Given the description of an element on the screen output the (x, y) to click on. 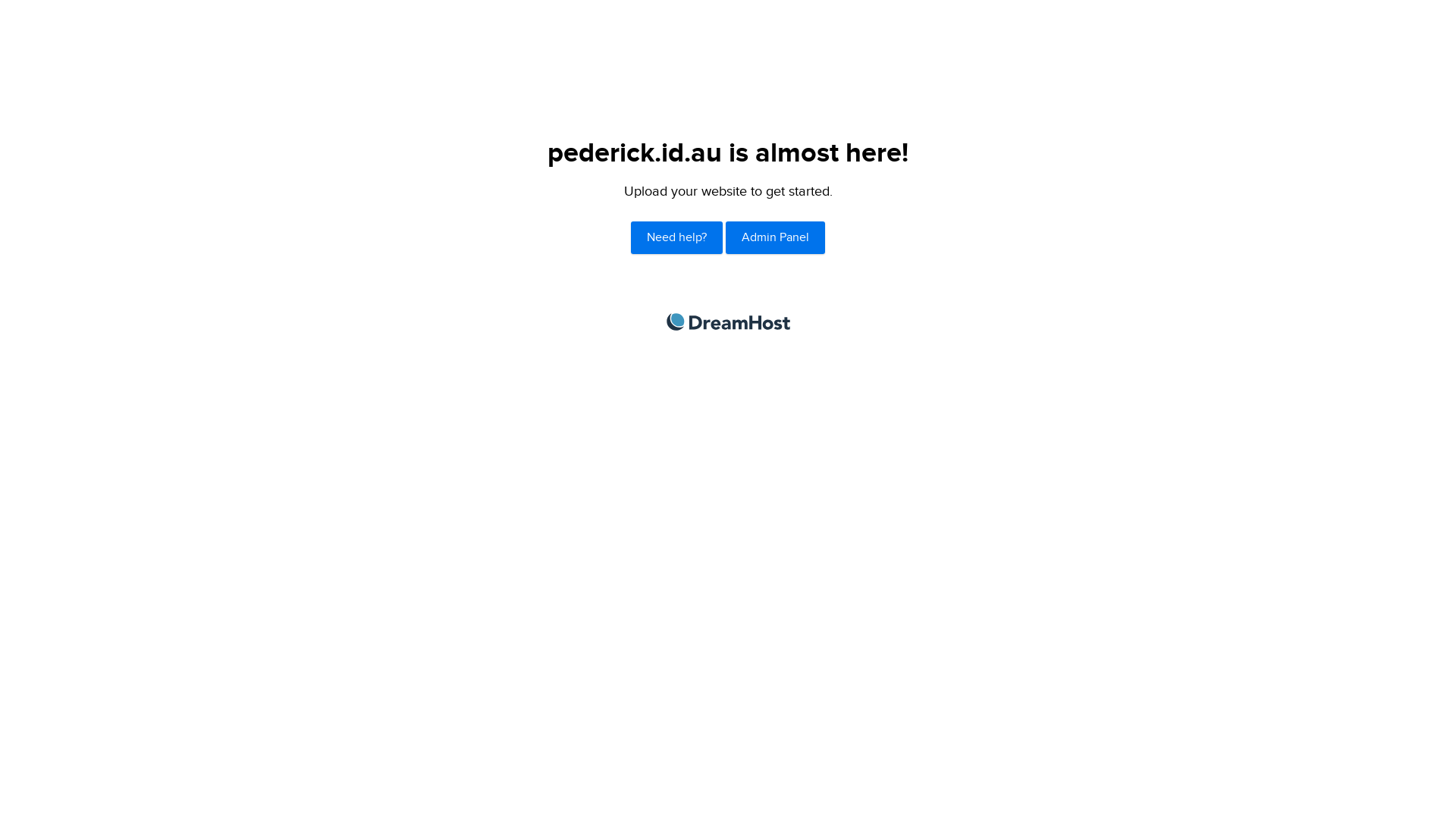
Admin Panel Element type: text (775, 237)
DreamHost Element type: text (727, 320)
Need help? Element type: text (676, 237)
